Given the description of an element on the screen output the (x, y) to click on. 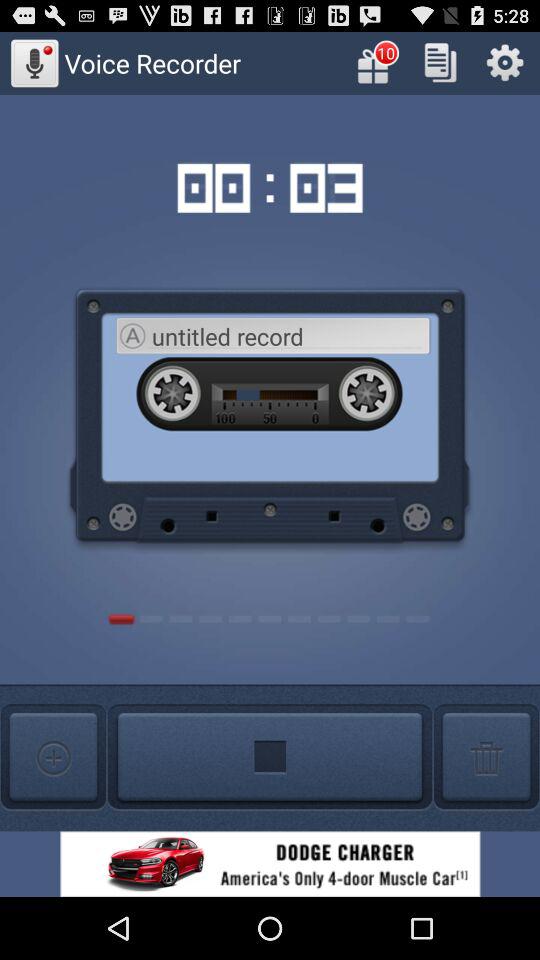
open settings (504, 62)
